Given the description of an element on the screen output the (x, y) to click on. 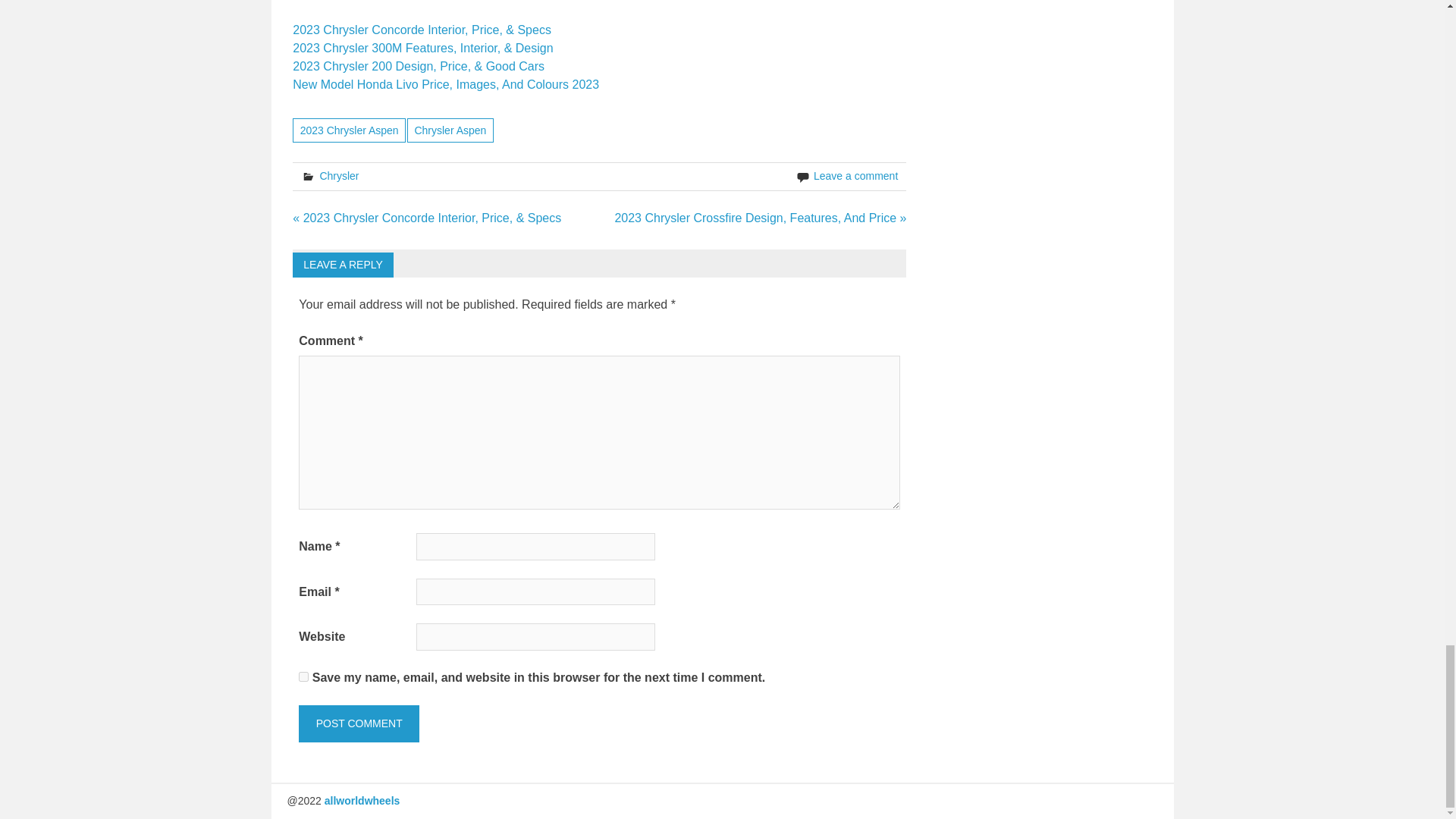
Chrysler Aspen (450, 129)
2023 Chrysler Aspen (349, 129)
Chrysler (338, 175)
New Model Honda Livo Price, Images, And Colours 2023 (445, 83)
Leave a comment (855, 175)
Post Comment (358, 723)
Post Comment (358, 723)
yes (303, 676)
